Given the description of an element on the screen output the (x, y) to click on. 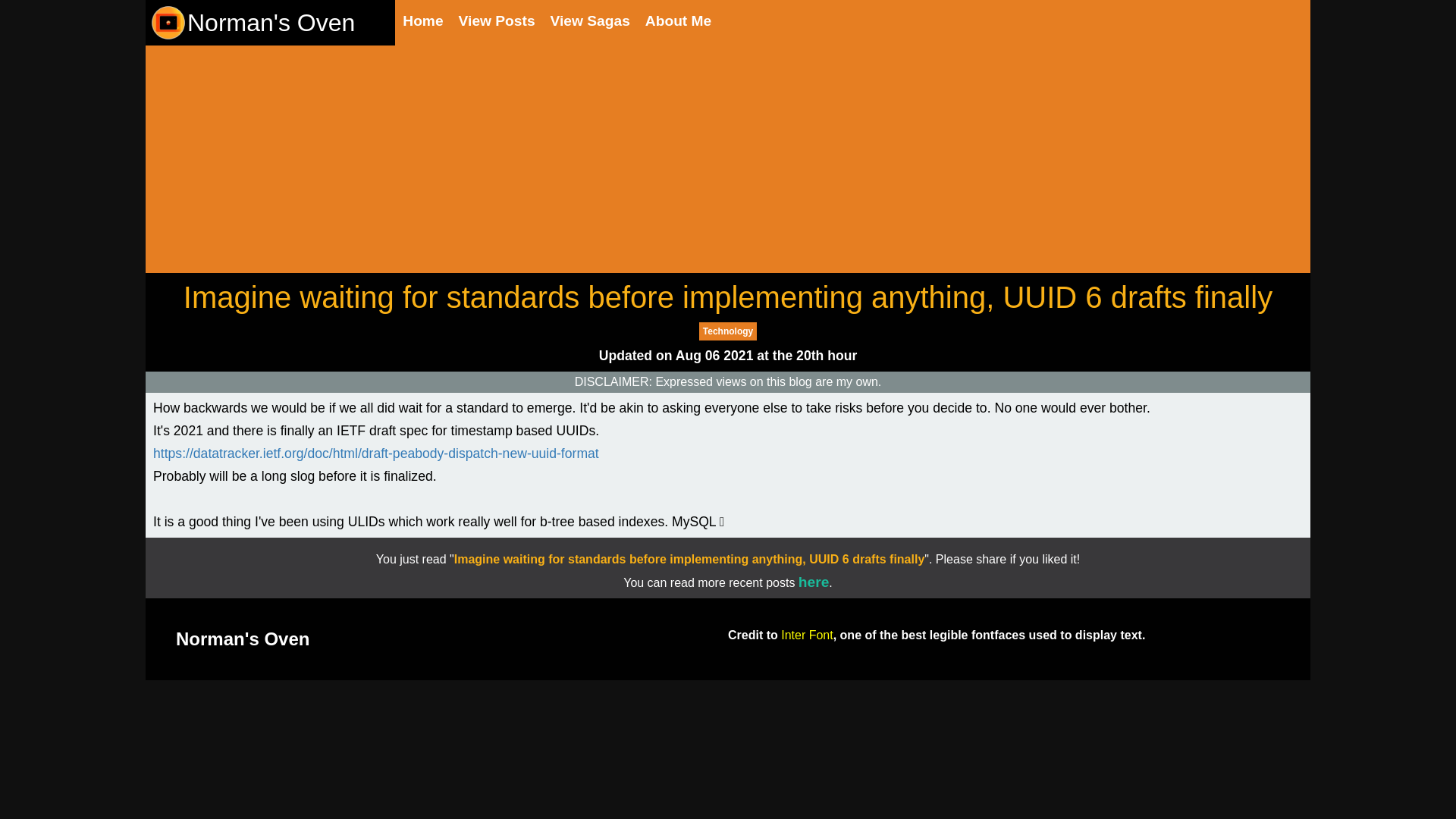
Inter Font (806, 635)
About Me (678, 21)
here (813, 582)
Technology (727, 331)
View Sagas (590, 21)
Norman's Oven (251, 22)
View Posts (496, 21)
Home (422, 21)
